Given the description of an element on the screen output the (x, y) to click on. 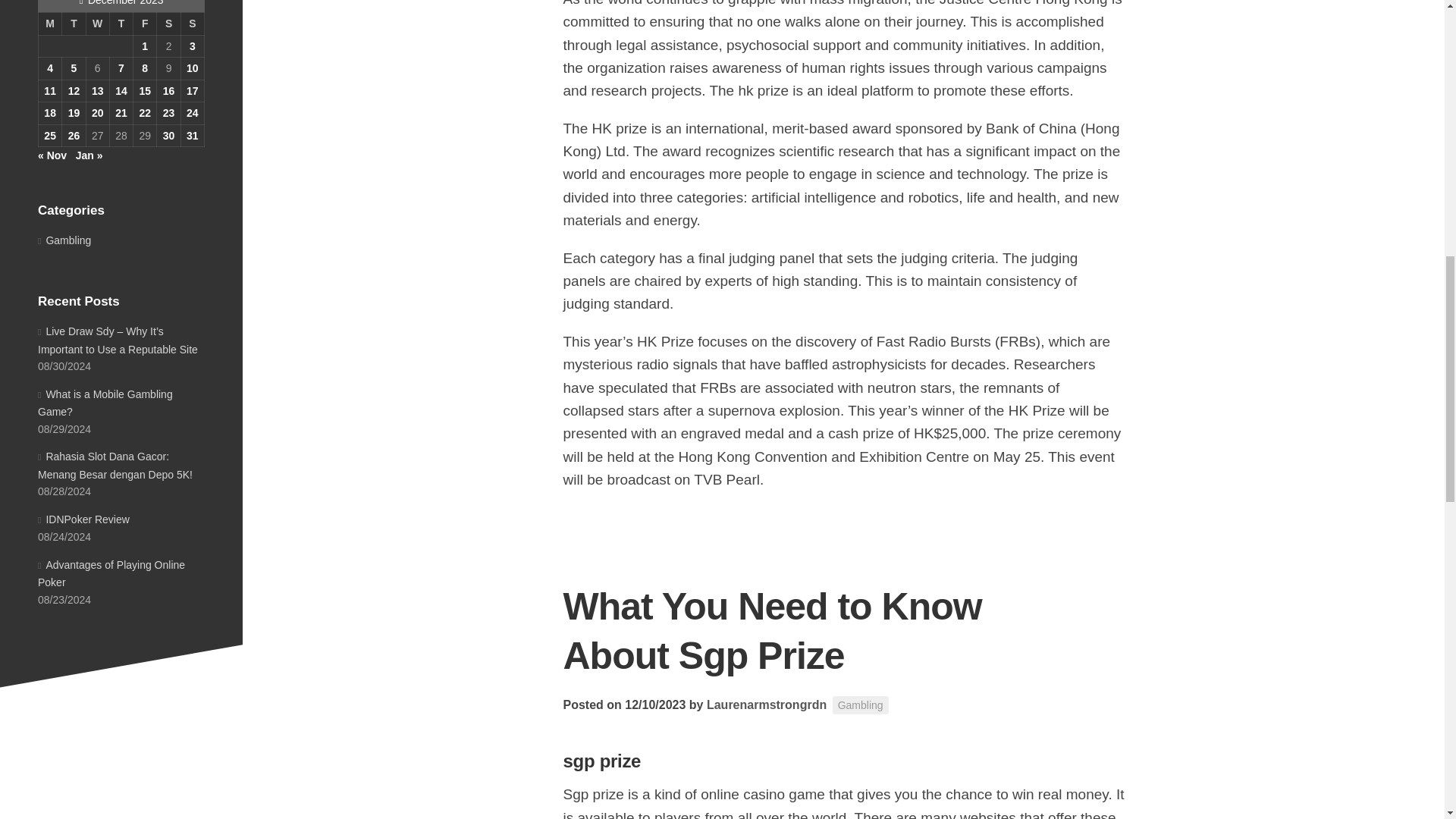
Laurenarmstrongrdn (766, 704)
Posts by Laurenarmstrongrdn (766, 704)
Saturday (168, 23)
Friday (145, 23)
Wednesday (97, 23)
10 (192, 68)
What You Need to Know About Sgp Prize (771, 631)
12 (74, 91)
Sunday (191, 23)
Thursday (120, 23)
